Given the description of an element on the screen output the (x, y) to click on. 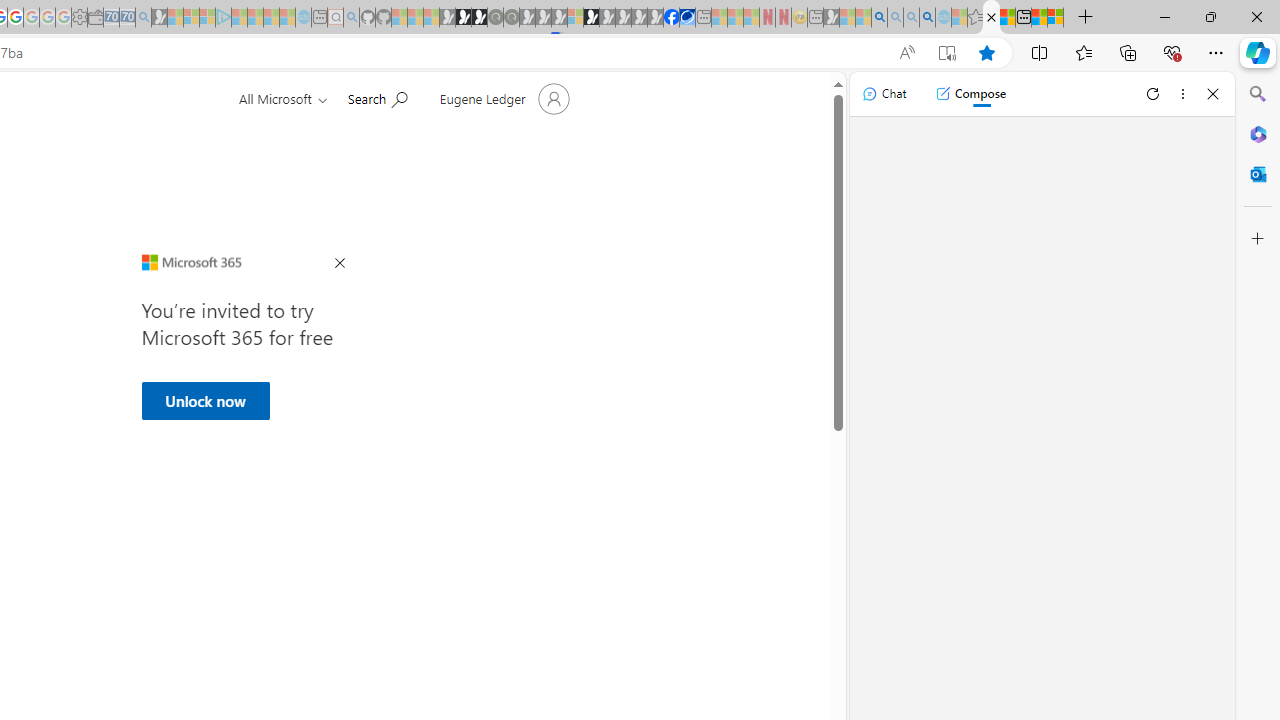
AirNow.gov (687, 17)
Compose (970, 93)
Account manager for Eugene Ledger (502, 98)
